Given the description of an element on the screen output the (x, y) to click on. 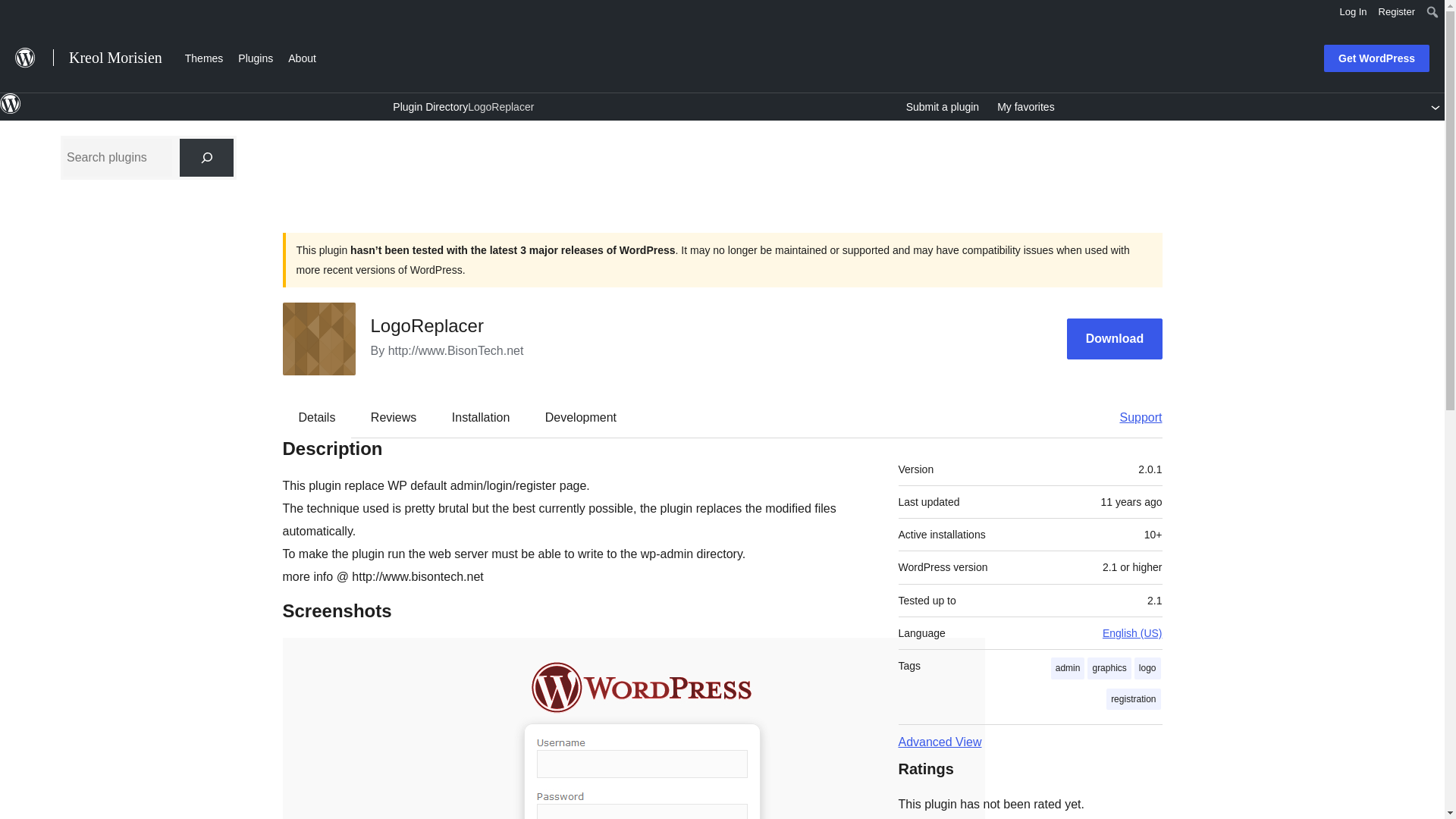
WordPress.org (10, 103)
Details (316, 417)
LogoReplacer (500, 106)
Installation (480, 417)
Reviews (392, 417)
Get WordPress (1376, 58)
admin (1067, 668)
Log In (1353, 12)
WordPress.org (10, 110)
Download (1114, 339)
